Given the description of an element on the screen output the (x, y) to click on. 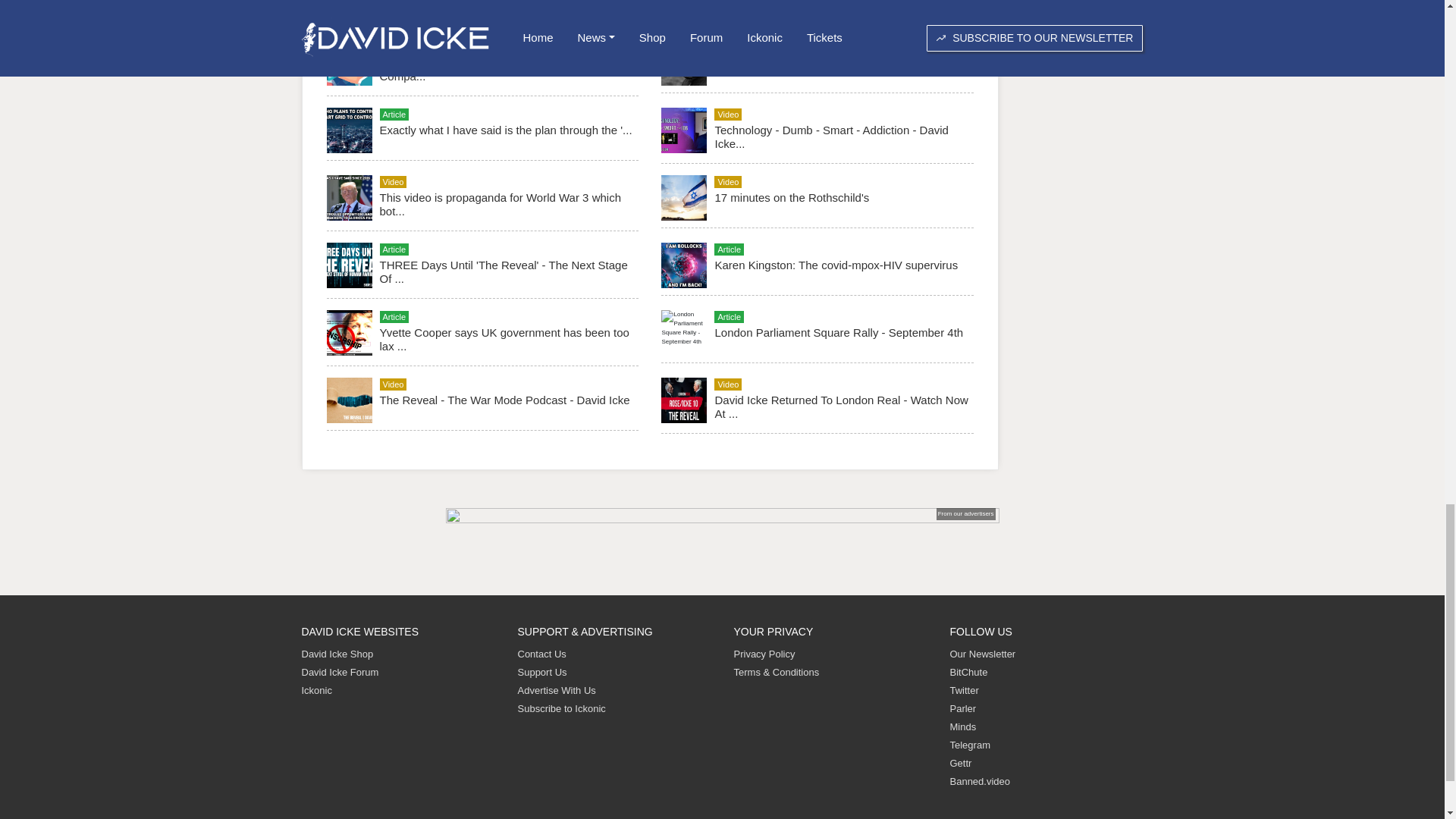
Uncovering World Tyranny And Its War Strategy - David Icke (502, 7)
